Given the description of an element on the screen output the (x, y) to click on. 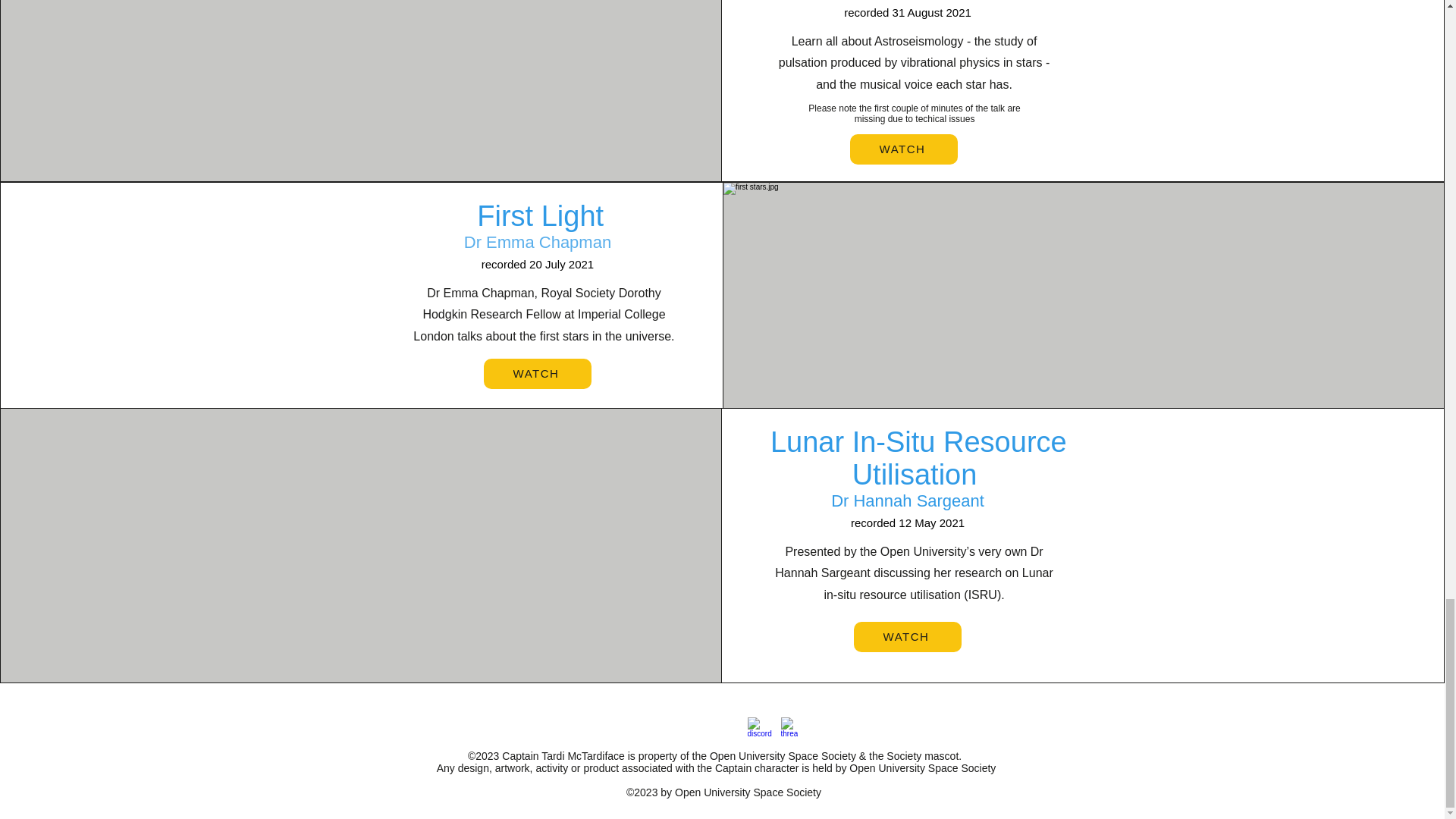
WATCH (904, 149)
WATCH (537, 373)
WATCH (906, 636)
